Given the description of an element on the screen output the (x, y) to click on. 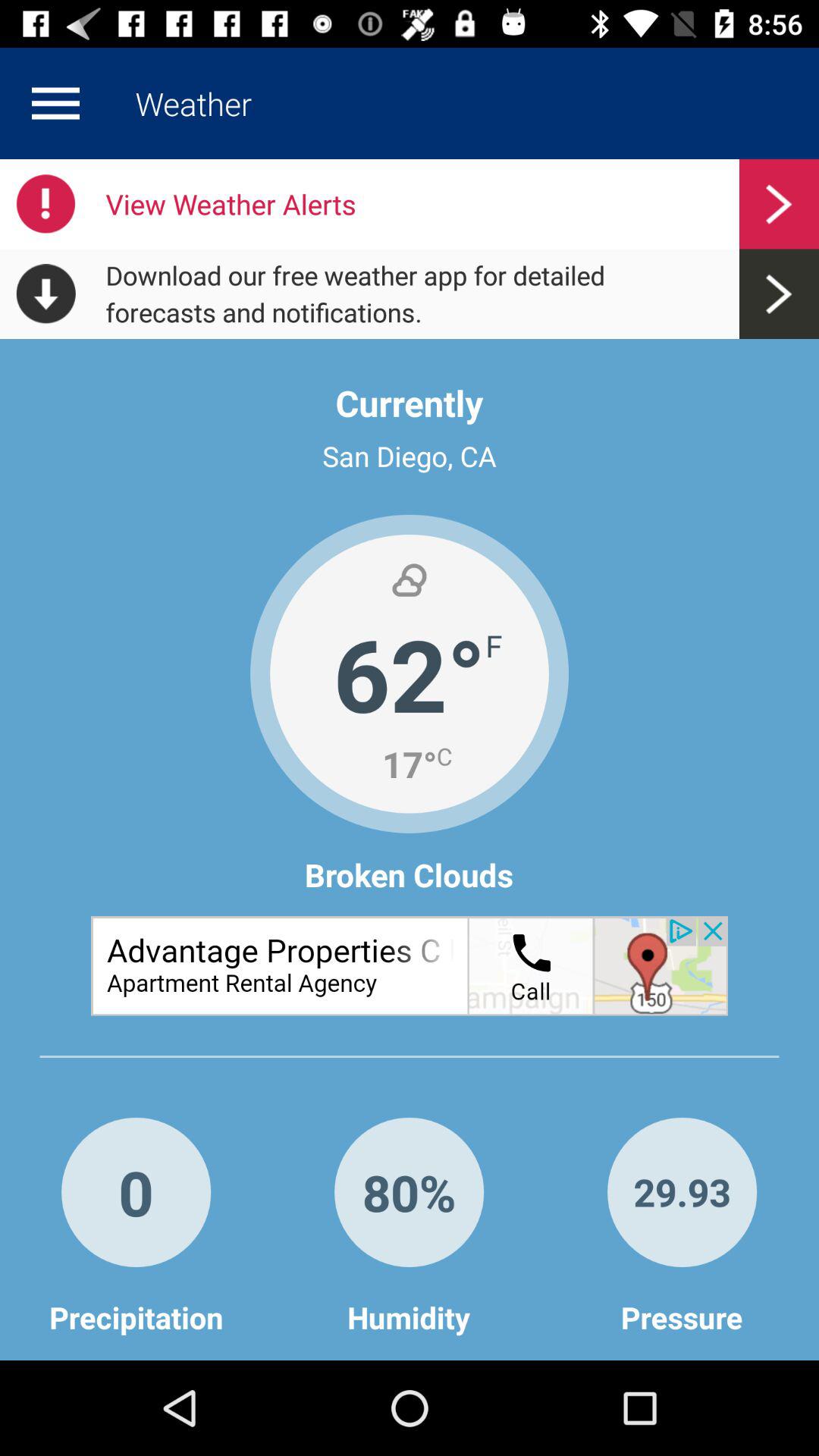
open menu options (55, 103)
